Given the description of an element on the screen output the (x, y) to click on. 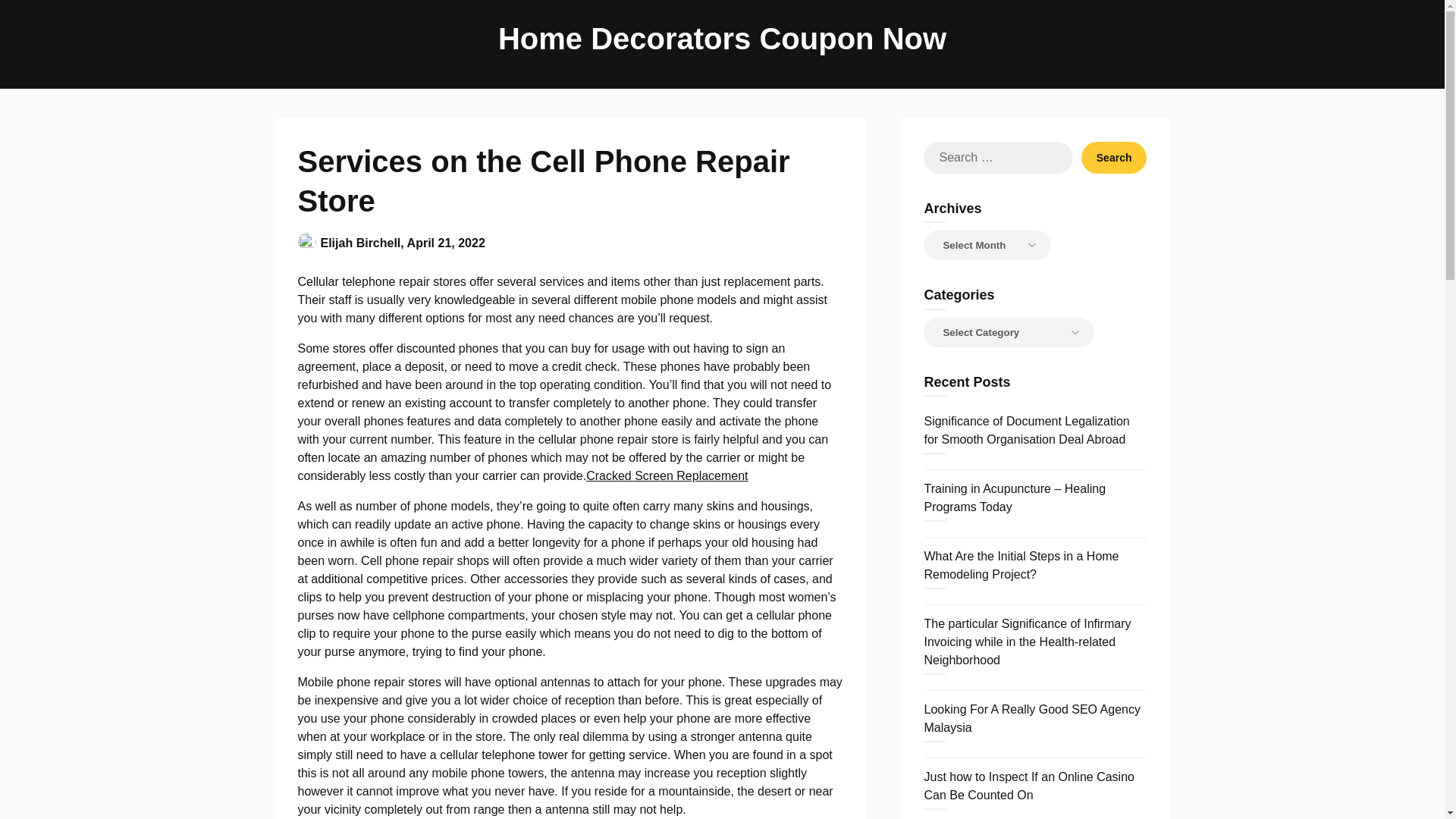
Just how to Inspect If an Online Casino Can Be Counted On (1028, 785)
Looking For A Really Good SEO Agency Malaysia (1031, 717)
What Are the Initial Steps in a Home Remodeling Project? (1020, 564)
Home Decorators Coupon Now (722, 38)
Search (1114, 157)
Search (1114, 157)
Cracked Screen Replacement (667, 475)
Search (1114, 157)
April 21, 2022 (445, 242)
